Given the description of an element on the screen output the (x, y) to click on. 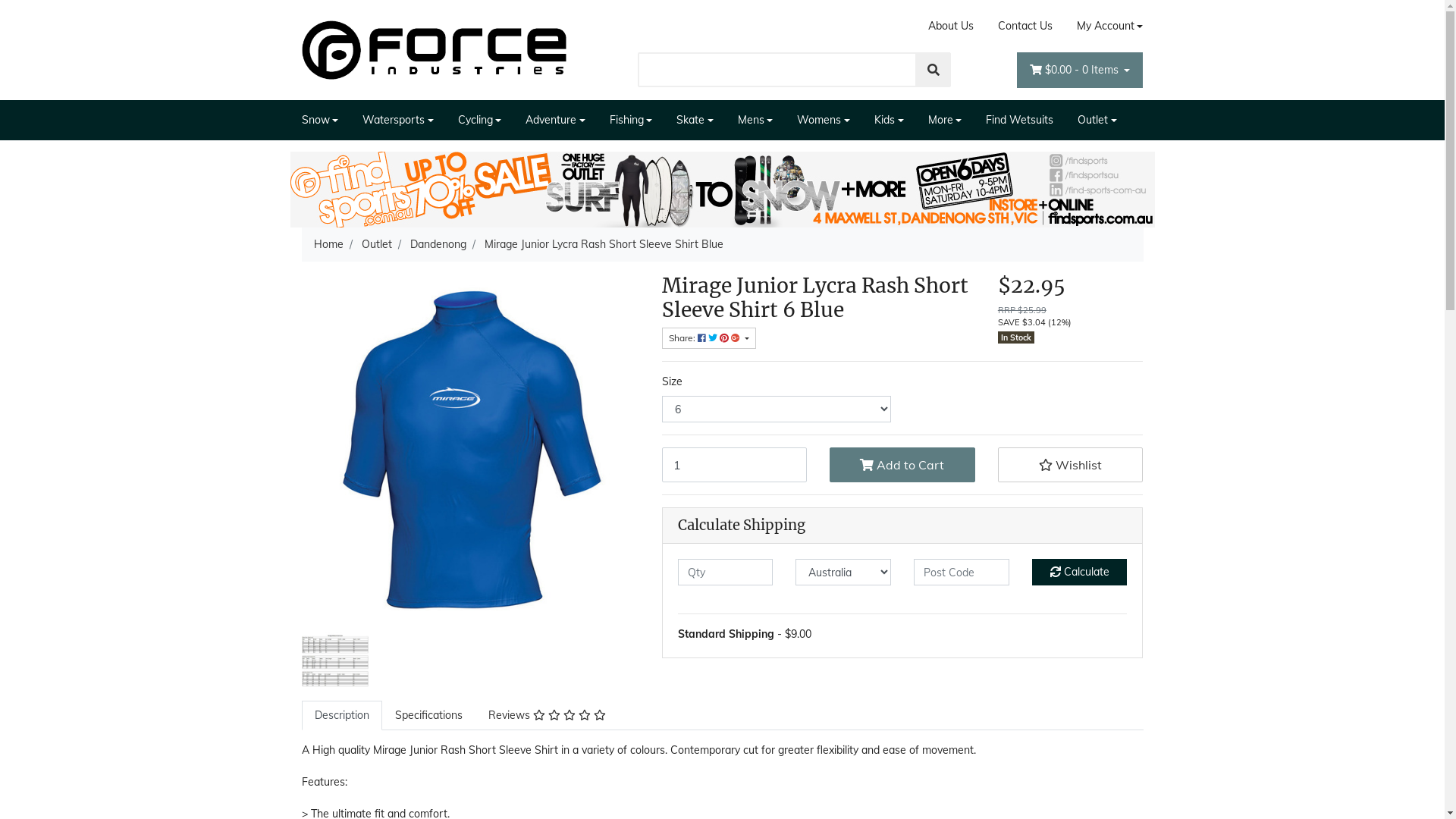
Fishing Element type: text (631, 120)
surf_skate_snow Element type: hover (721, 189)
Skate Element type: text (694, 120)
About Us Element type: text (950, 26)
Outlet Element type: text (1097, 120)
More Element type: text (945, 120)
Force Industries Element type: hover (434, 49)
$0.00 - 0 Items Element type: text (1079, 69)
Mens Element type: text (755, 120)
Calculate Element type: text (1079, 571)
Dandenong Element type: text (437, 244)
Adventure Element type: text (555, 120)
Specifications Element type: text (428, 715)
Cycling Element type: text (479, 120)
Snow Element type: text (326, 120)
My Account Element type: text (1103, 26)
Find Wetsuits Element type: text (1019, 120)
Wishlist Element type: text (1070, 464)
Open again Element type: hover (721, 188)
Description Element type: text (341, 715)
Mirage Junior Lycra Rash Short Sleeve Shirt Blue Element type: text (602, 244)
Share: Element type: text (708, 337)
Search Element type: text (933, 69)
Reviews Element type: text (546, 715)
Add to Cart Element type: text (902, 464)
Kids Element type: text (889, 120)
Outlet Element type: text (375, 244)
Watersports Element type: text (397, 120)
Contact Us Element type: text (1024, 26)
Home Element type: text (328, 244)
Womens Element type: text (823, 120)
